Given the description of an element on the screen output the (x, y) to click on. 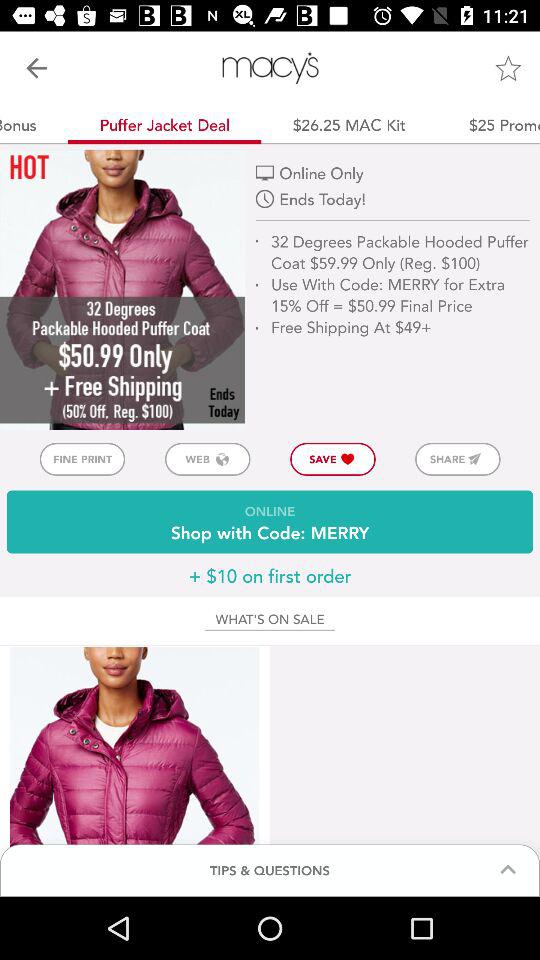
turn on the icon next to the web (82, 458)
